Given the description of an element on the screen output the (x, y) to click on. 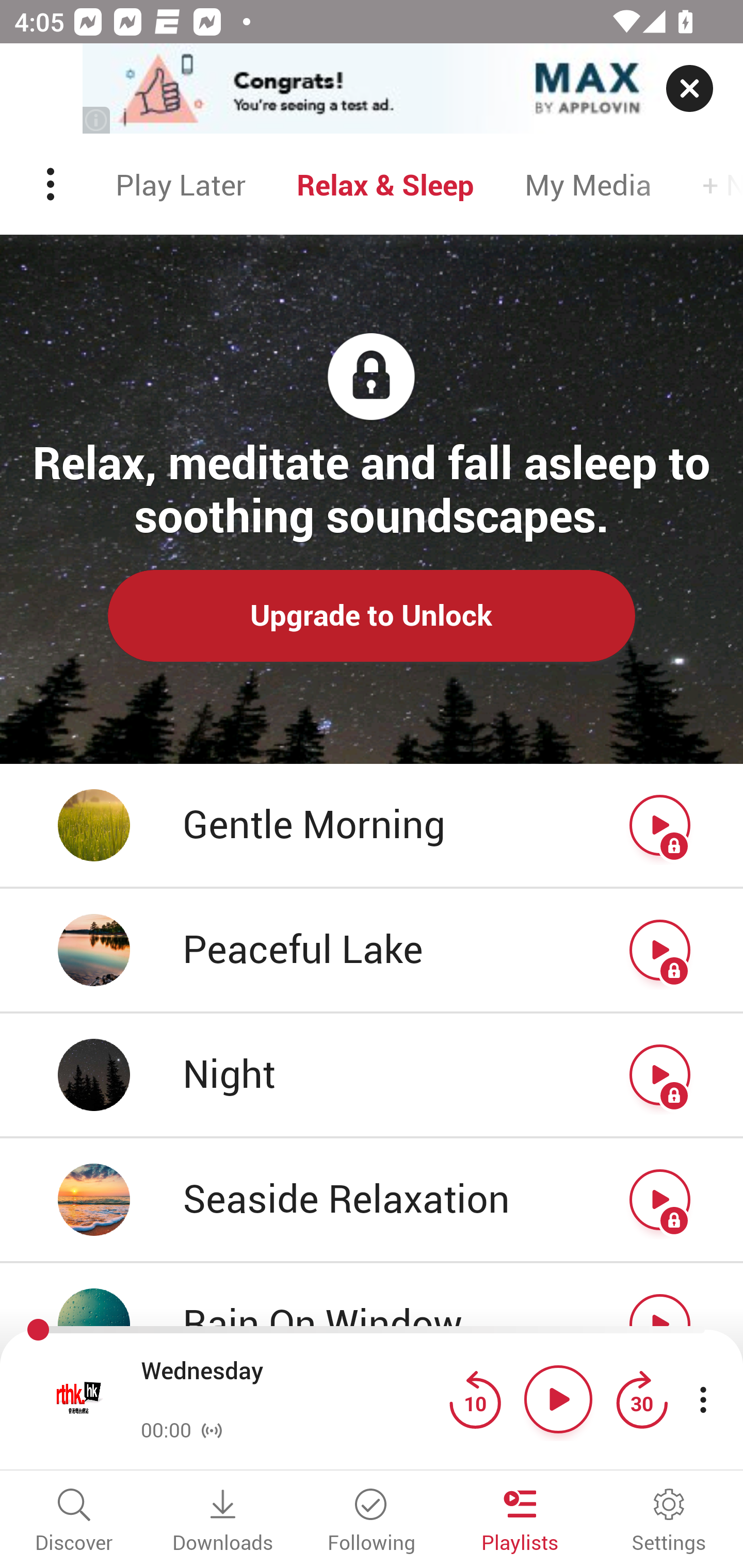
app-monetization (371, 88)
(i) (96, 119)
Menu (52, 184)
Play Later (180, 184)
Relax & Sleep (385, 184)
My Media (587, 184)
Upgrade to Unlock (371, 615)
Gentle Morning Play button (371, 826)
Peaceful Lake Play button (371, 950)
Night Play button (371, 1075)
Seaside Relaxation Play button (371, 1200)
Open fullscreen player (79, 1399)
More player controls (703, 1399)
Wednesday (290, 1385)
Play button (558, 1398)
Jump back (475, 1399)
Jump forward (641, 1399)
Discover (74, 1521)
Downloads (222, 1521)
Following (371, 1521)
Playlists (519, 1521)
Settings (668, 1521)
